Given the description of an element on the screen output the (x, y) to click on. 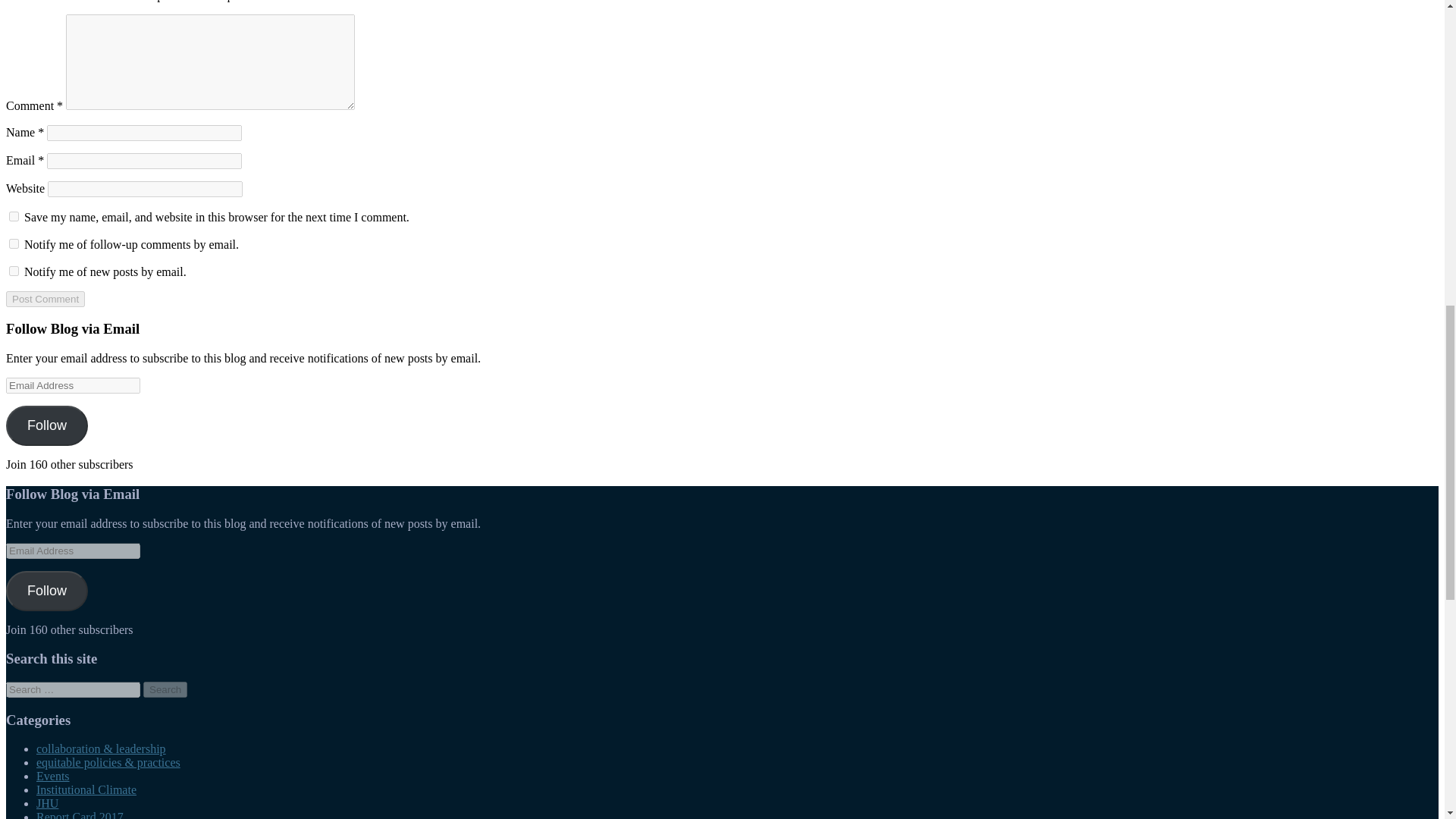
Institutional Climate (86, 789)
subscribe (13, 271)
subscribe (13, 243)
Post Comment (44, 299)
Report Card 2017 (79, 814)
yes (13, 216)
Search (164, 689)
Events (52, 775)
Follow (46, 590)
Search (164, 689)
